Given the description of an element on the screen output the (x, y) to click on. 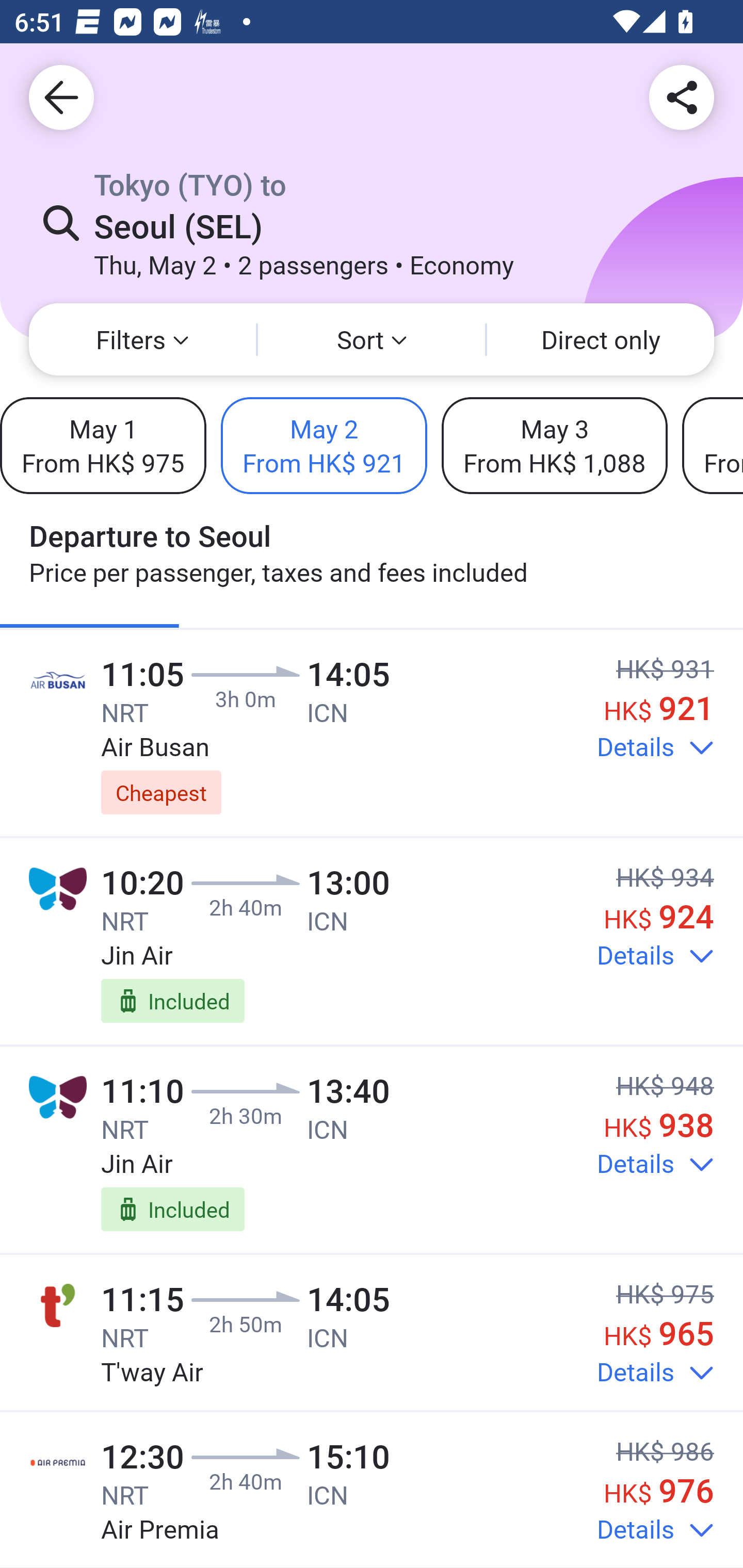
Filters (141, 339)
Sort (371, 339)
Direct only (600, 339)
May 1 From HK$ 975 (103, 444)
May 2 From HK$ 921 (323, 444)
May 3 From HK$ 1,088 (554, 444)
